Given the description of an element on the screen output the (x, y) to click on. 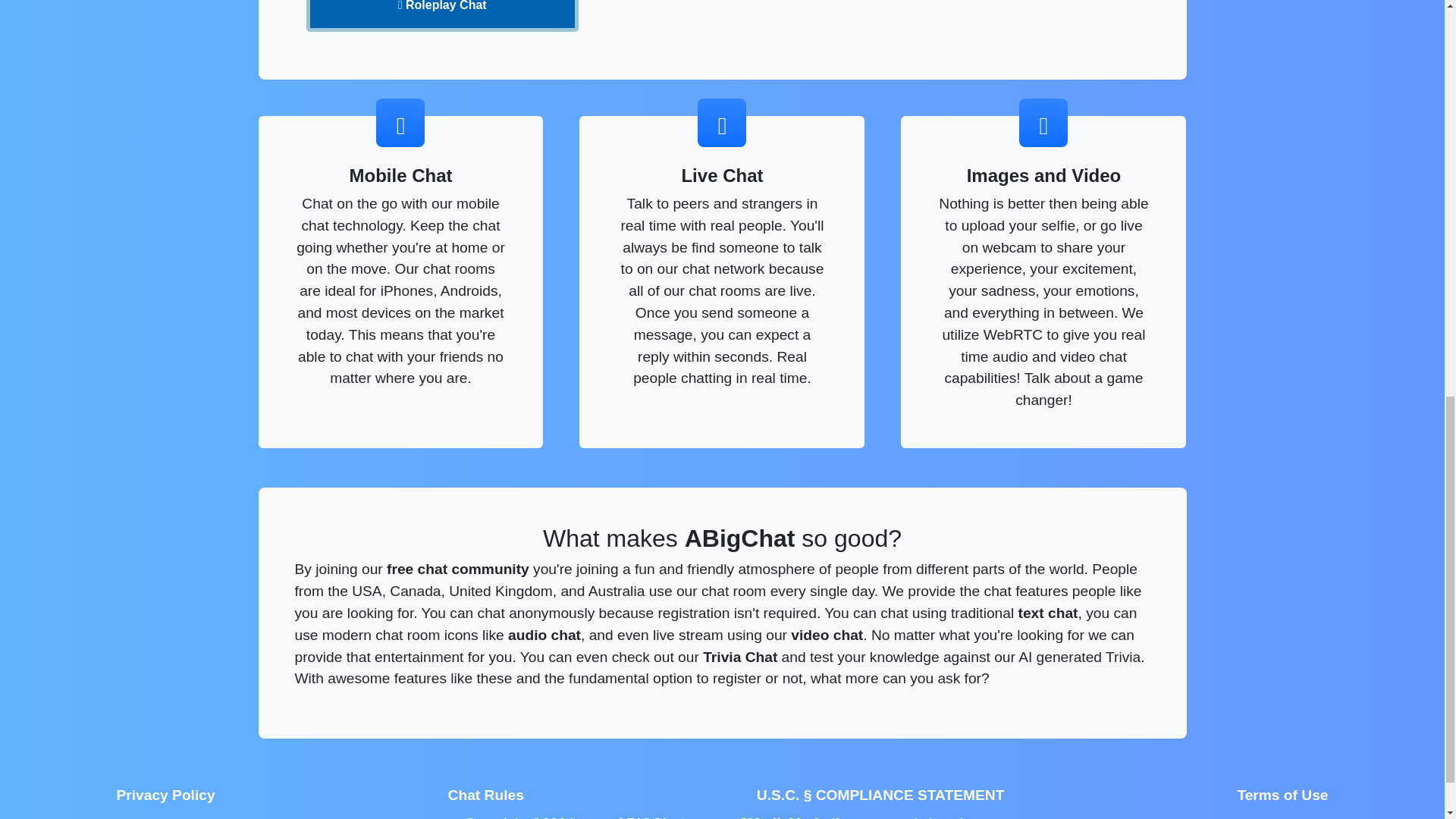
c3MediaMarketing (794, 816)
Roleplay Chat (441, 15)
Chat Rules (485, 795)
Privacy Policy (165, 795)
Roleplay Chat Room (441, 15)
www.ABIGChat.com (648, 816)
